Given the description of an element on the screen output the (x, y) to click on. 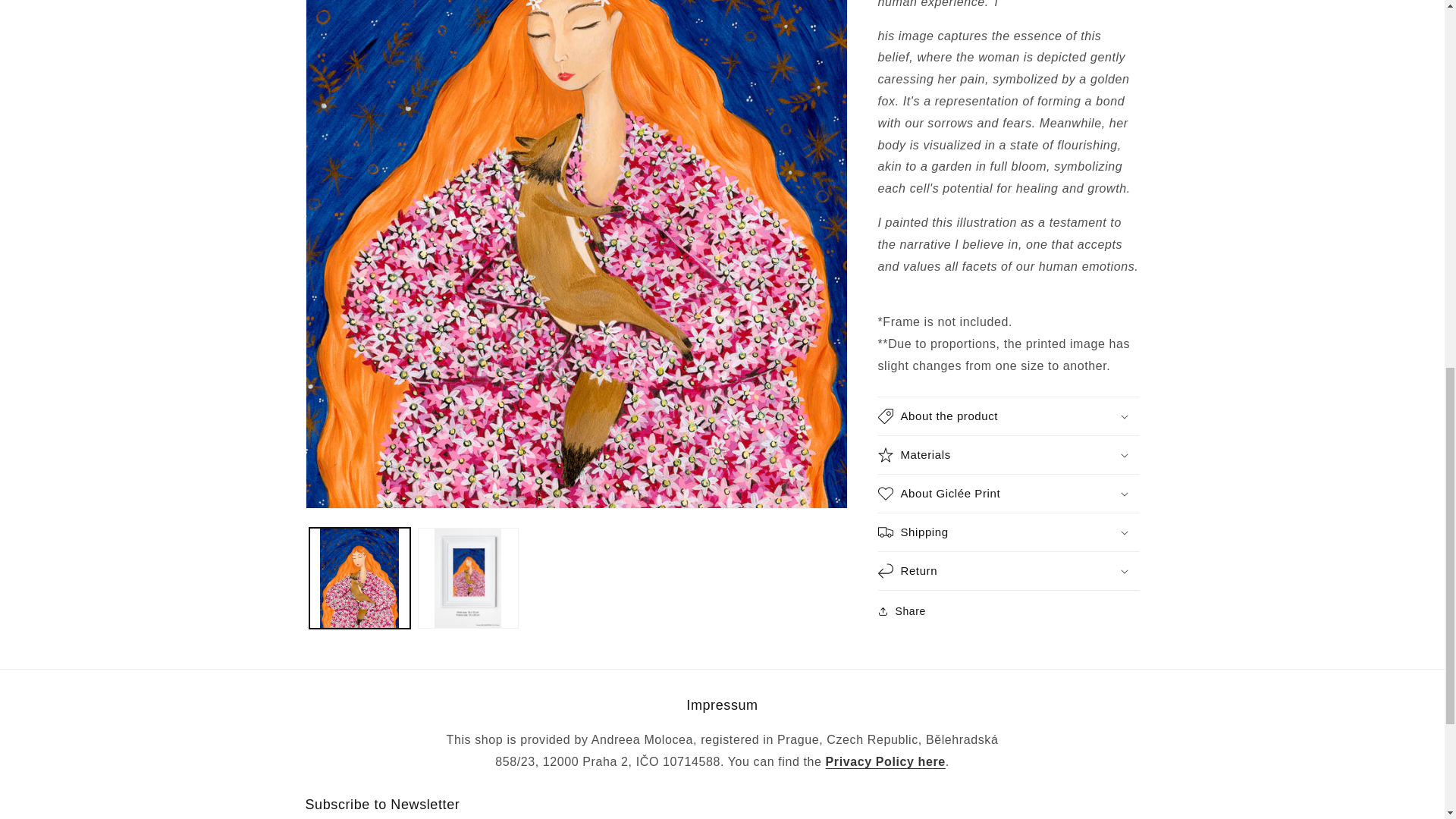
Privacy Policy (884, 761)
